Given the description of an element on the screen output the (x, y) to click on. 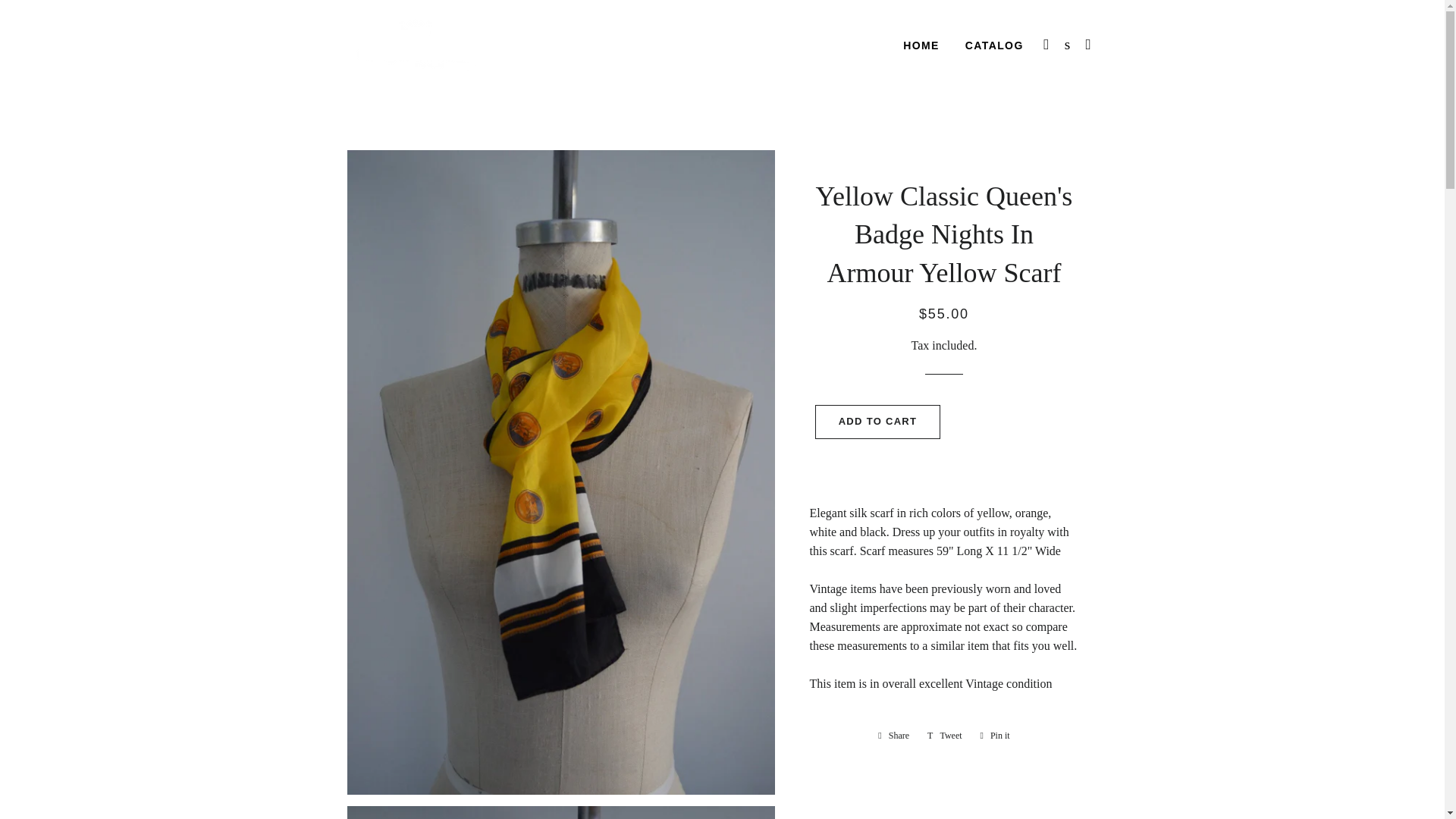
Share on Facebook (994, 735)
CATALOG (893, 735)
HOME (893, 735)
Tweet on Twitter (994, 46)
Pin on Pinterest (944, 735)
ADD TO CART (920, 46)
